Given the description of an element on the screen output the (x, y) to click on. 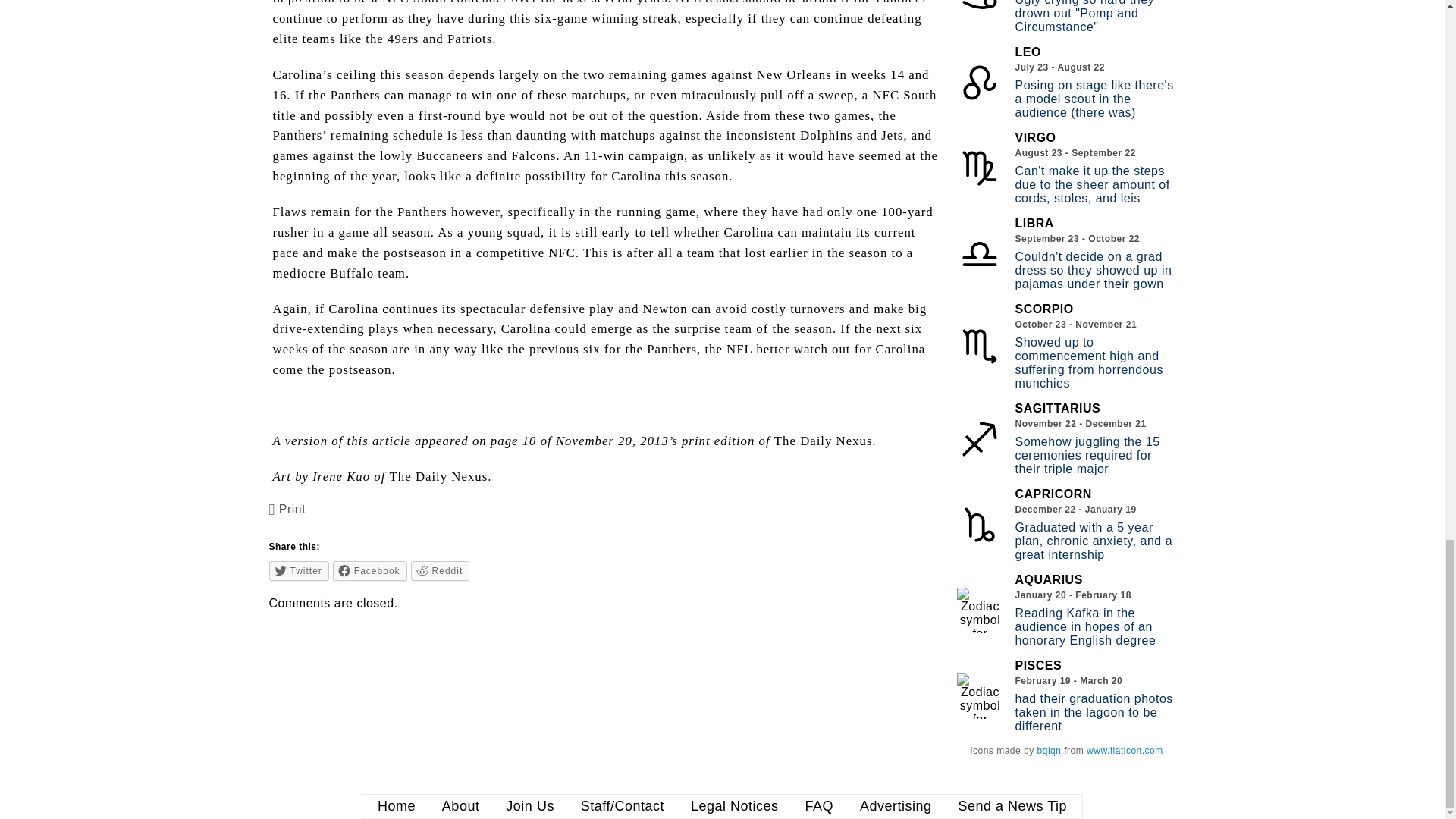
Click to share on Facebook (370, 570)
Click to share on Reddit (440, 570)
Click to share on Twitter (299, 570)
